Given the description of an element on the screen output the (x, y) to click on. 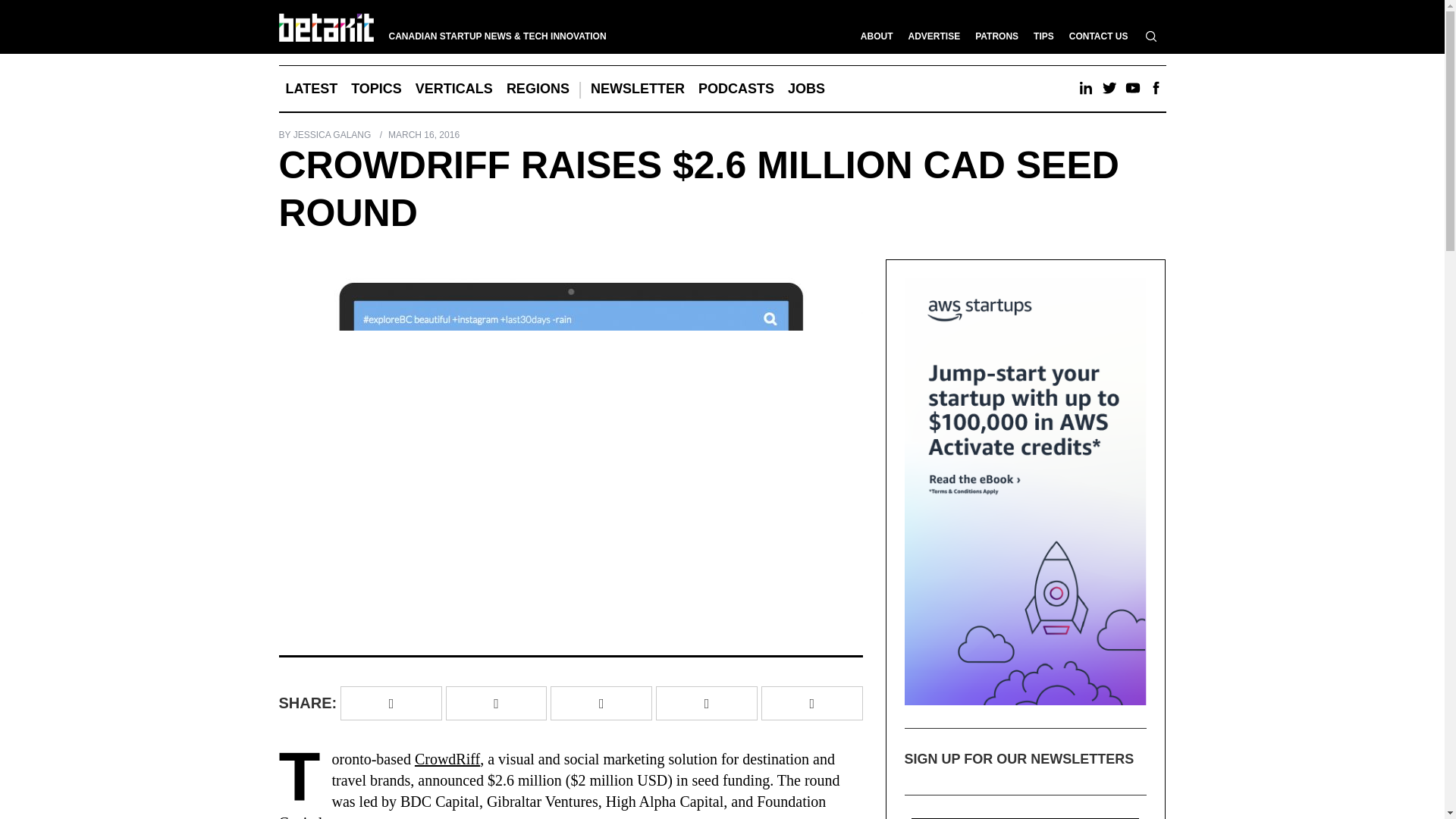
LATEST (312, 88)
CONTACT US (1098, 36)
ABOUT (877, 36)
JOBS (805, 88)
TIPS (1043, 36)
TOPICS (376, 88)
PATRONS (997, 36)
NEWSLETTER (637, 88)
Posts by Jessica Galang (332, 134)
PODCASTS (735, 88)
